Given the description of an element on the screen output the (x, y) to click on. 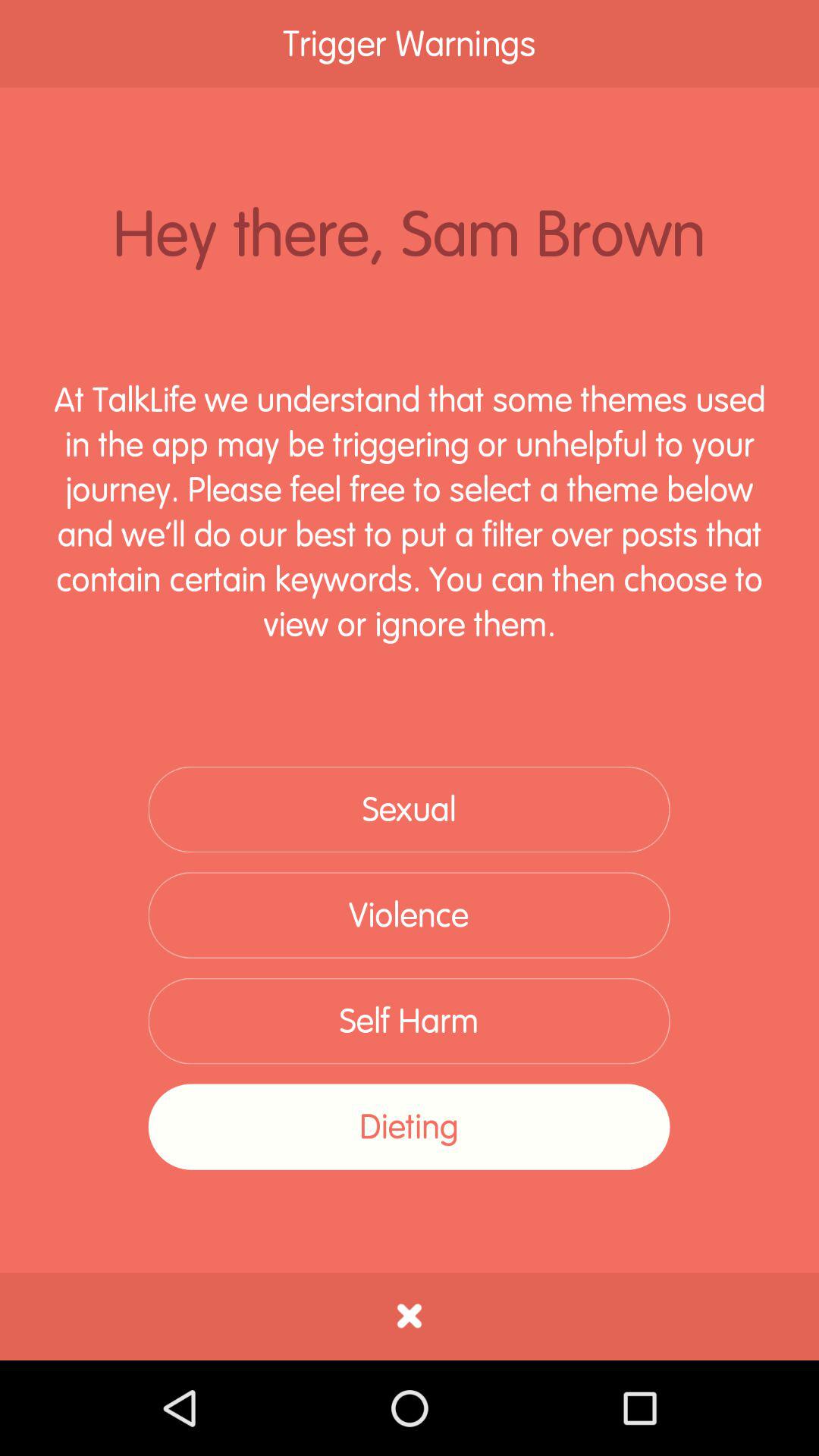
select icon below the self harm item (408, 1126)
